Given the description of an element on the screen output the (x, y) to click on. 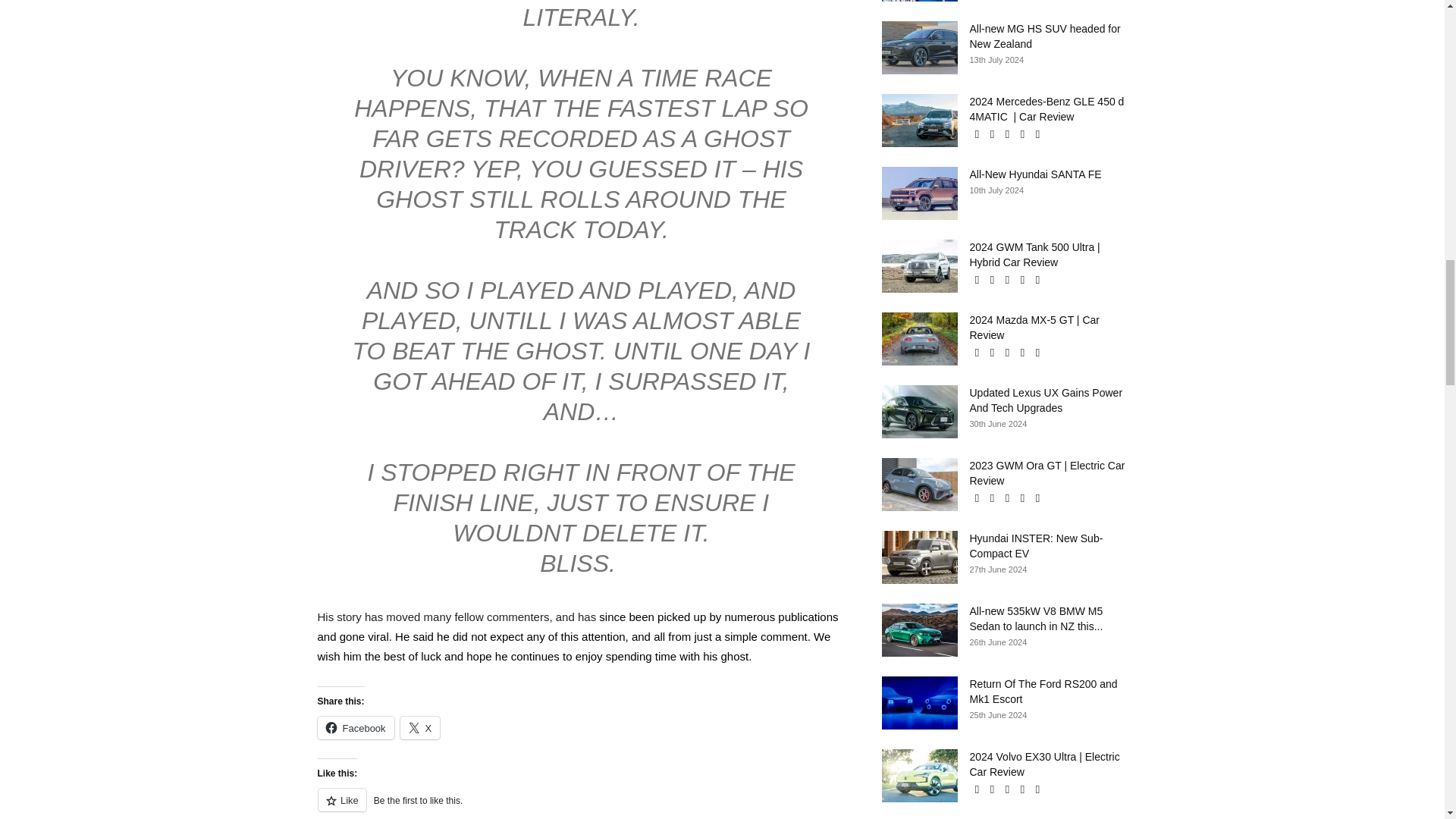
Like or Reblog (580, 803)
Click to share on Facebook (355, 727)
Click to share on X (420, 727)
